Given the description of an element on the screen output the (x, y) to click on. 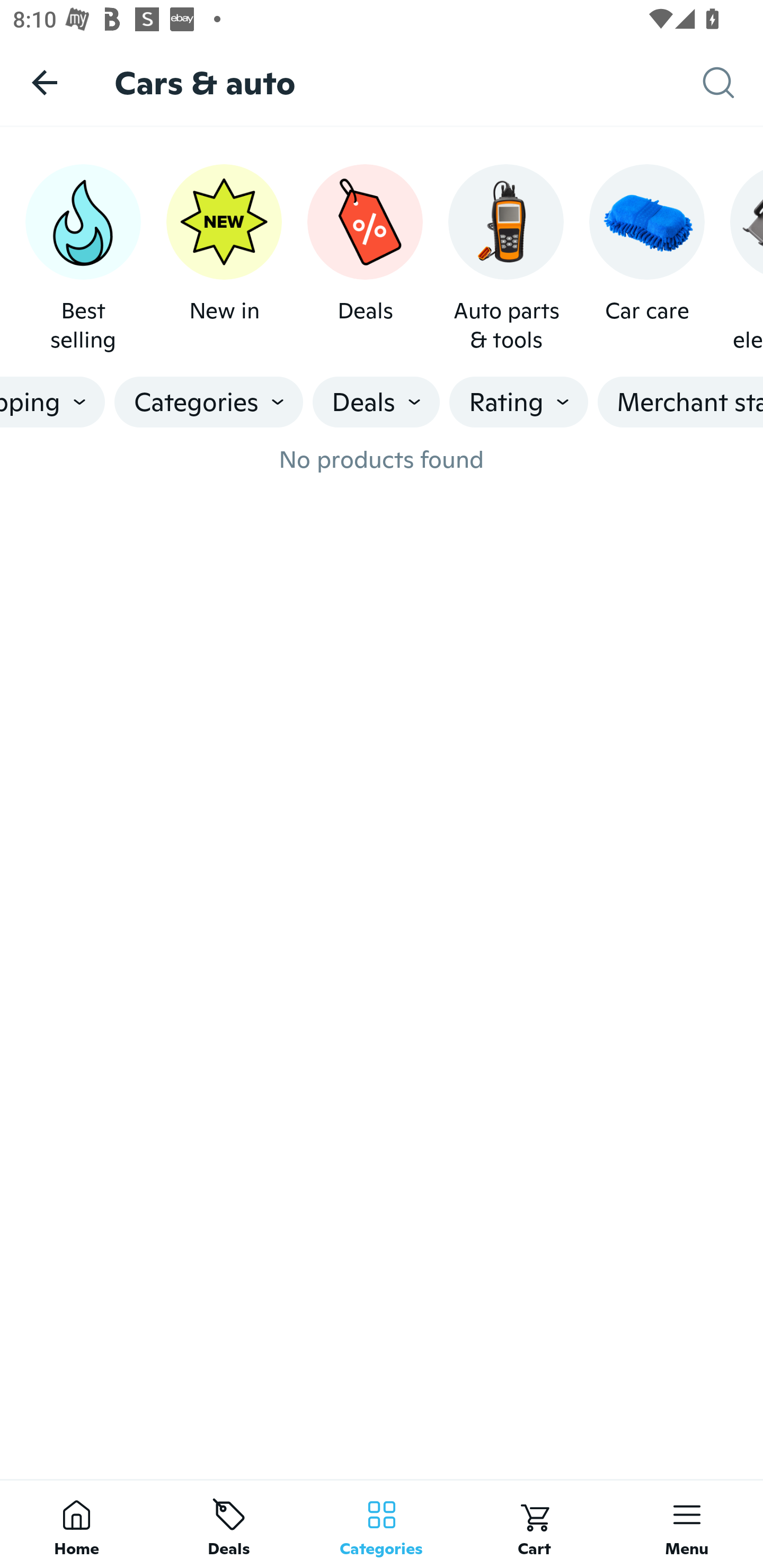
Navigate up (44, 82)
Search (732, 82)
Best selling (83, 259)
New in (223, 259)
Deals (364, 259)
Auto parts & tools (505, 259)
Car care (647, 259)
Shipping (52, 402)
Categories (208, 402)
Deals (375, 402)
Rating (518, 402)
Merchant status (680, 402)
Home (76, 1523)
Deals (228, 1523)
Categories (381, 1523)
Cart (533, 1523)
Menu (686, 1523)
